Given the description of an element on the screen output the (x, y) to click on. 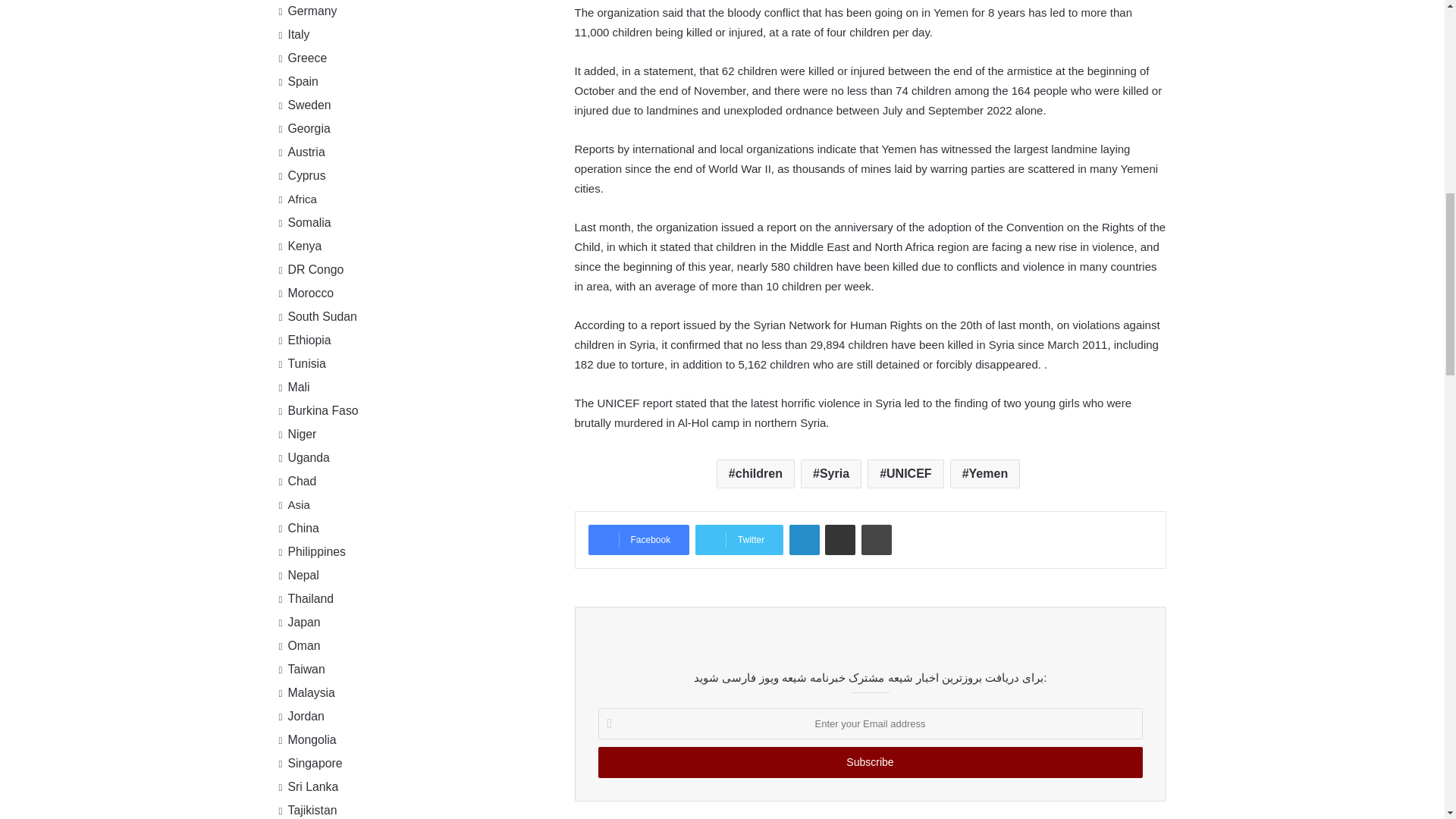
Share via Email (840, 539)
Twitter (739, 539)
Yemen (985, 473)
UNICEF (905, 473)
children (755, 473)
LinkedIn (804, 539)
LinkedIn (804, 539)
Twitter (739, 539)
Subscribe (868, 762)
Facebook (639, 539)
